Given the description of an element on the screen output the (x, y) to click on. 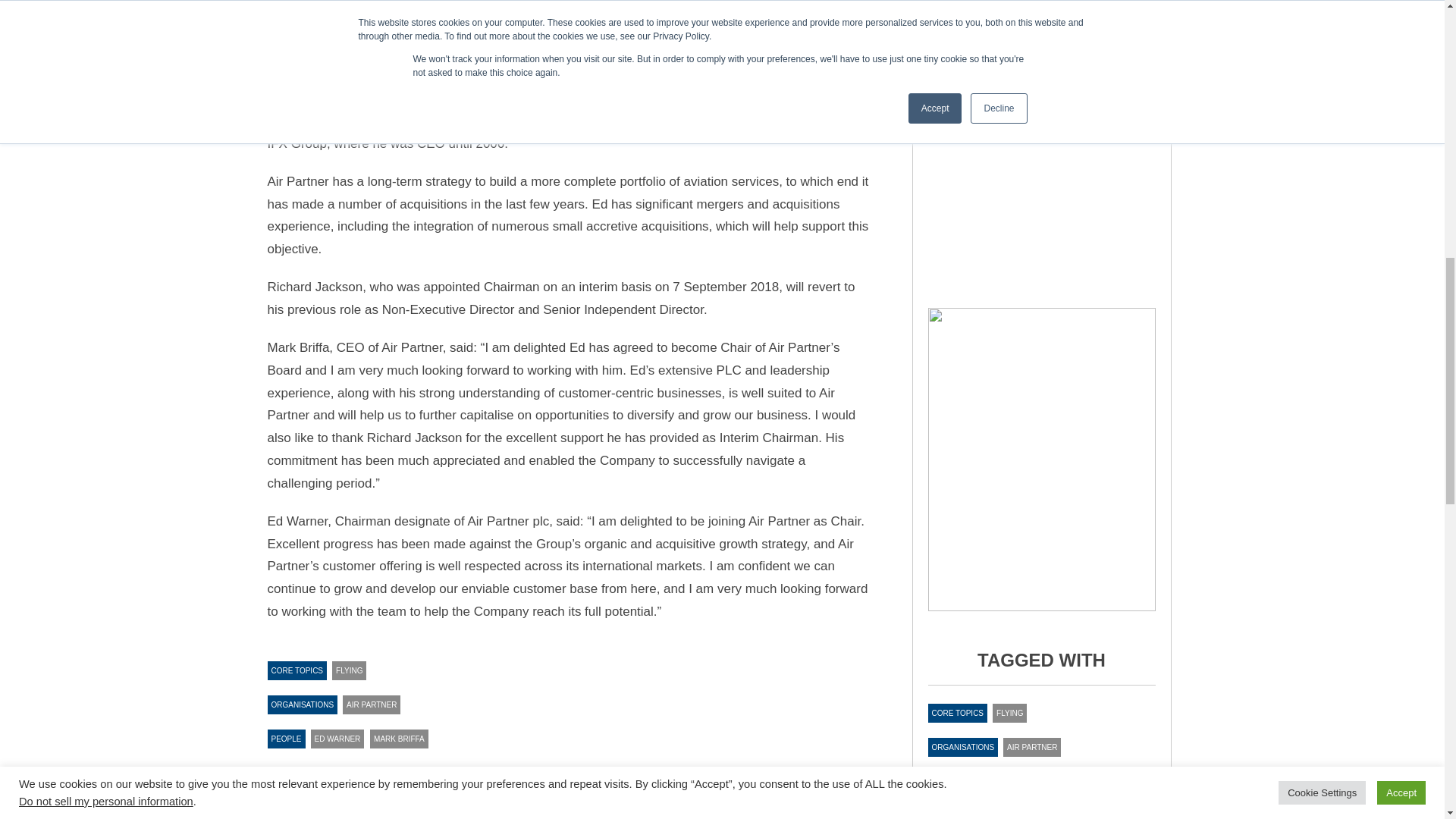
Twitter (382, 792)
LinkedIn (352, 792)
Facebook (322, 792)
Email (412, 792)
